Given the description of an element on the screen output the (x, y) to click on. 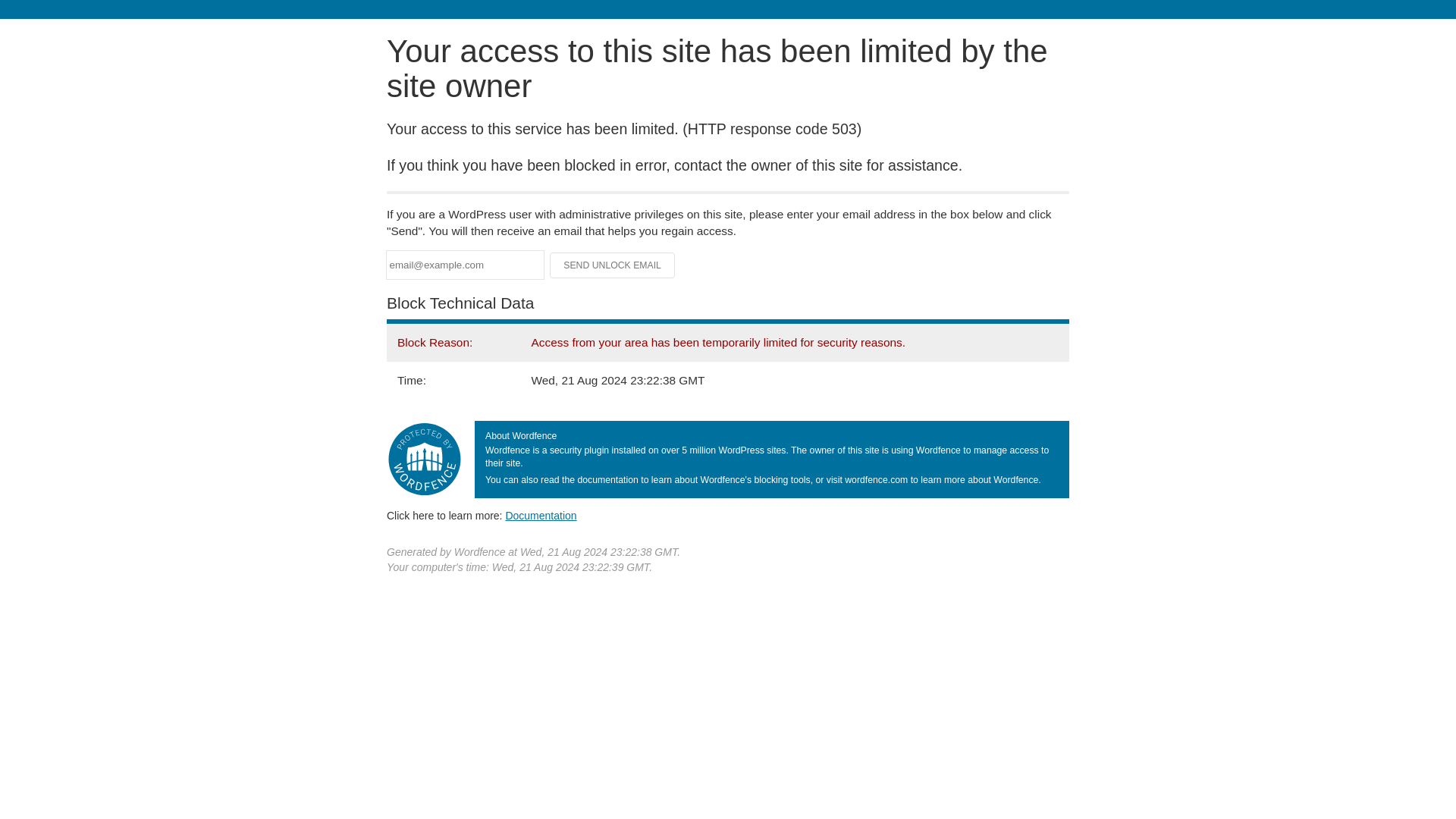
Send Unlock Email (612, 265)
Documentation (540, 515)
Send Unlock Email (612, 265)
